Given the description of an element on the screen output the (x, y) to click on. 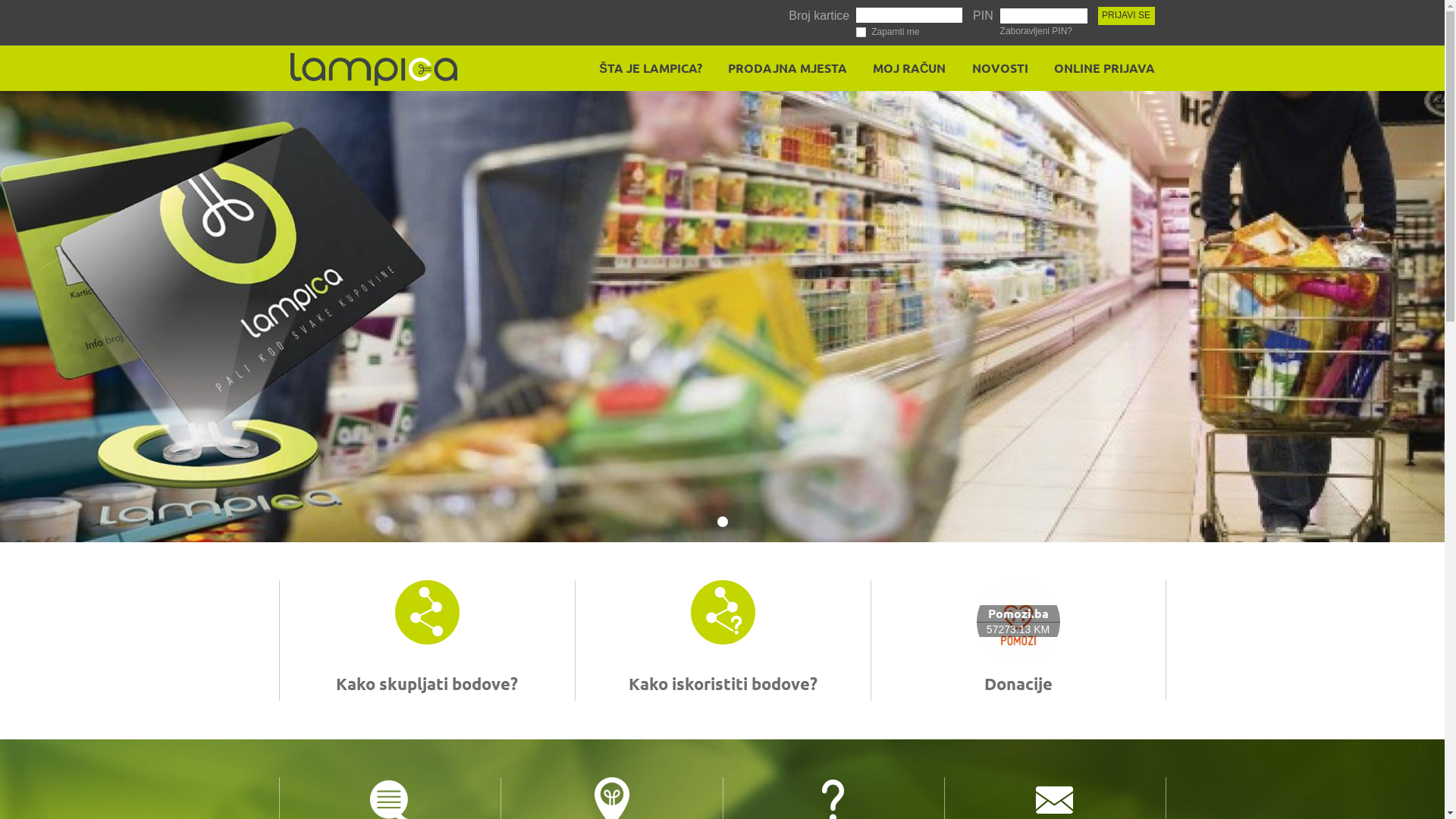
NOVOSTI Element type: text (994, 68)
ONLINE PRIJAVA Element type: text (1098, 68)
PRIJAVI SE Element type: text (1126, 15)
1 Element type: text (722, 521)
Zaboravljeni PIN? Element type: text (1036, 30)
Kako skupljati bodove? Element type: text (426, 683)
Kako iskoristiti bodove? Element type: text (721, 683)
PRODAJNA MJESTA Element type: text (782, 68)
